Given the description of an element on the screen output the (x, y) to click on. 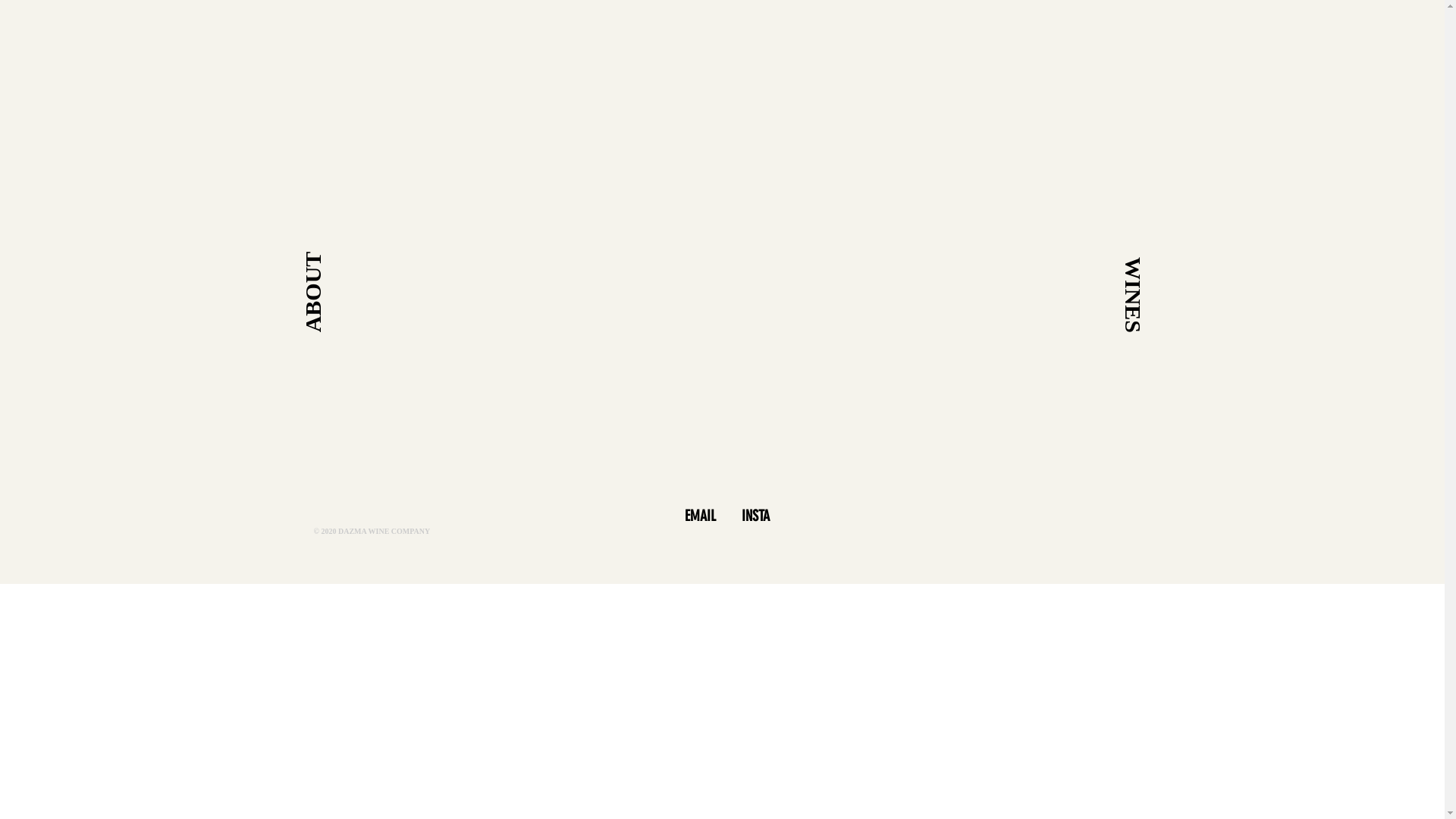
INSTA Element type: text (755, 515)
EMAIL Element type: text (702, 515)
ABOUT Element type: text (341, 262)
WINES Element type: text (1154, 272)
